Given the description of an element on the screen output the (x, y) to click on. 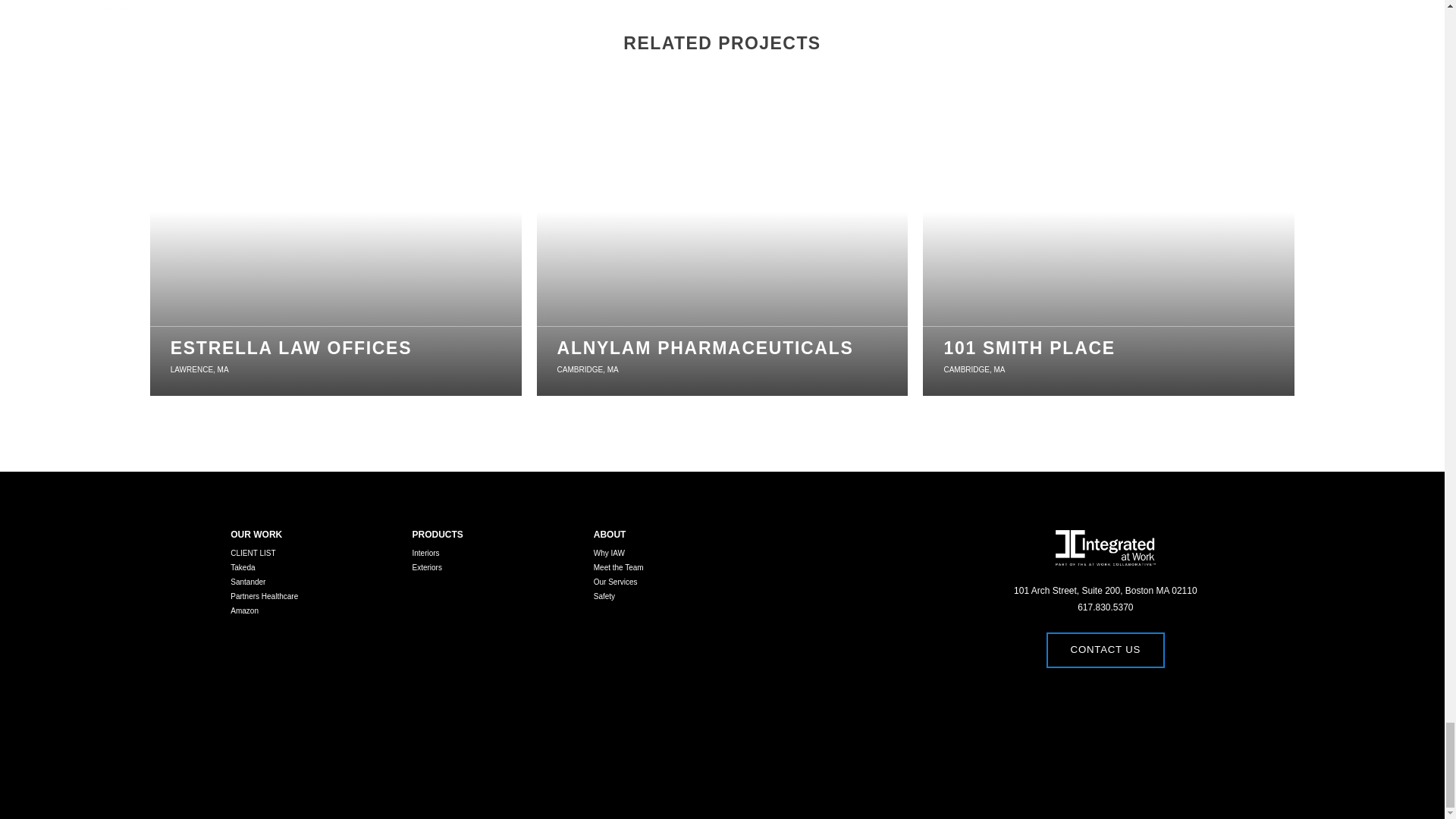
Safety (722, 249)
Our Services (677, 596)
Meet the Team (677, 582)
Interiors (677, 567)
Partners Healthcare (335, 249)
Takeda (495, 552)
PRODUCTS (313, 596)
OUR WORK (313, 567)
